Given the description of an element on the screen output the (x, y) to click on. 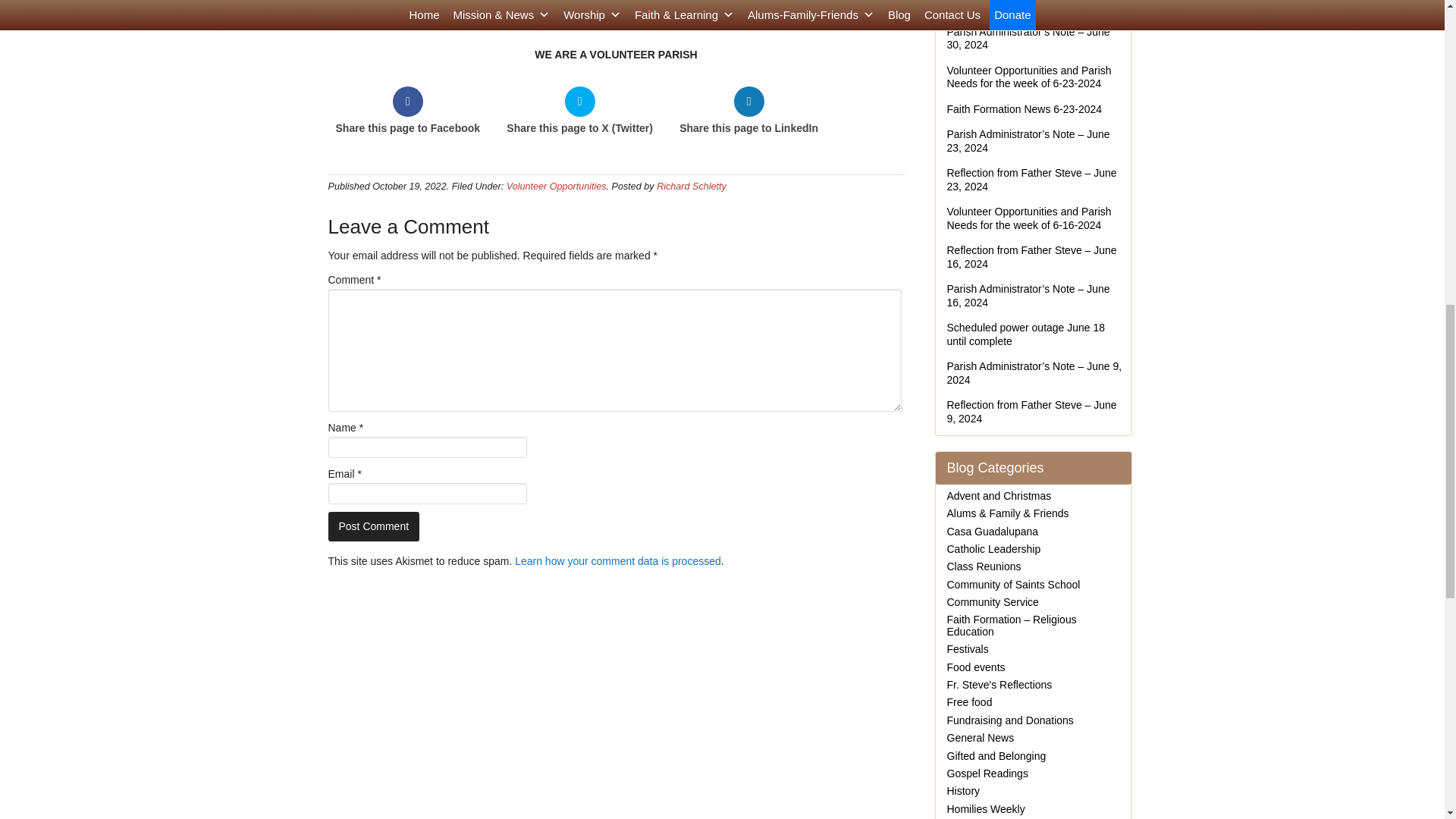
Post Comment (373, 526)
